Given the description of an element on the screen output the (x, y) to click on. 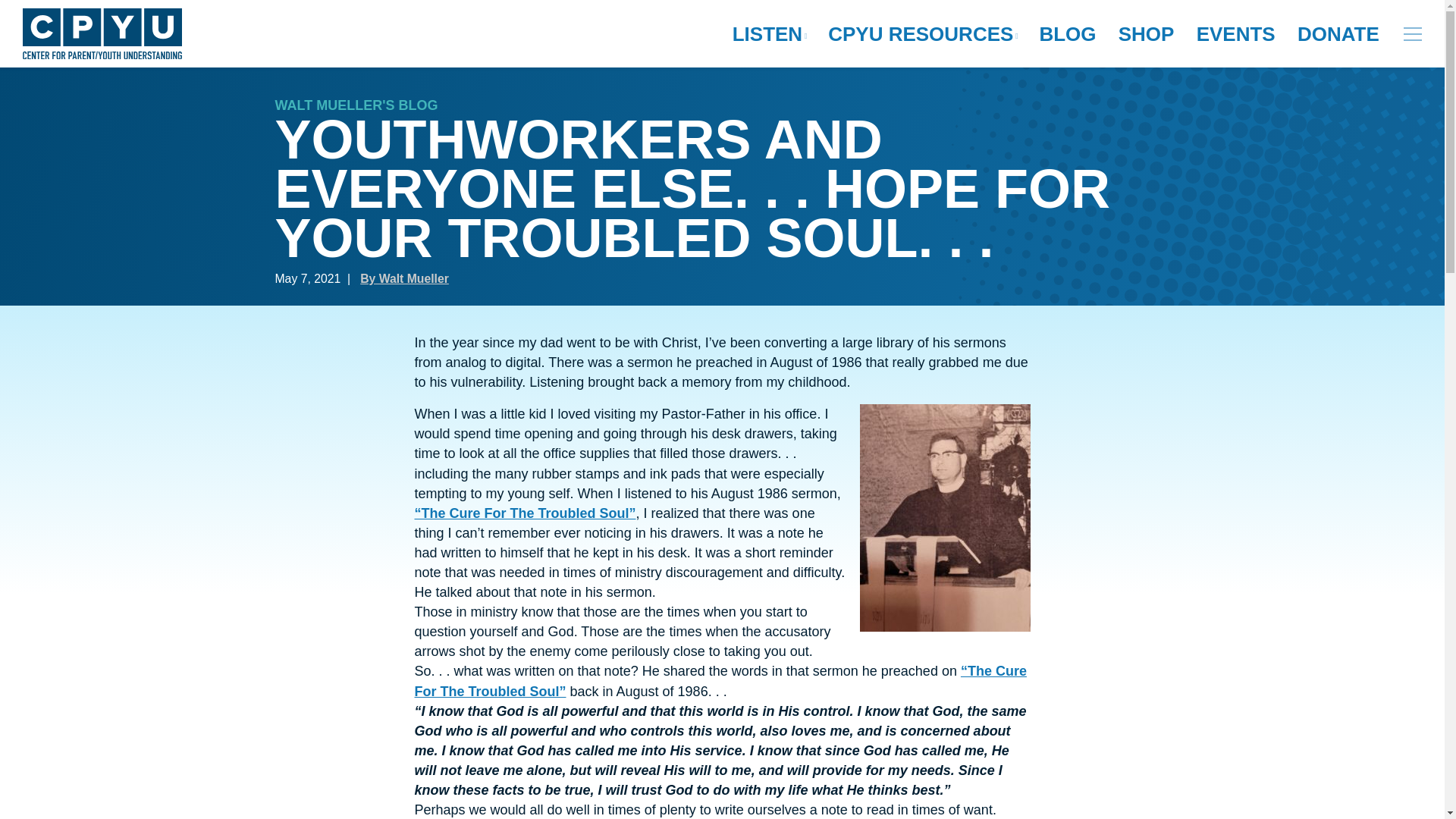
CPYU RESOURCES (922, 34)
BLOG (1067, 34)
EVENTS (1236, 34)
By Walt Mueller (403, 278)
DONATE (1338, 34)
SHOP (1146, 34)
WALT MUELLER'S BLOG (356, 105)
By Walt Mueller (403, 278)
LISTEN (769, 34)
